Given the description of an element on the screen output the (x, y) to click on. 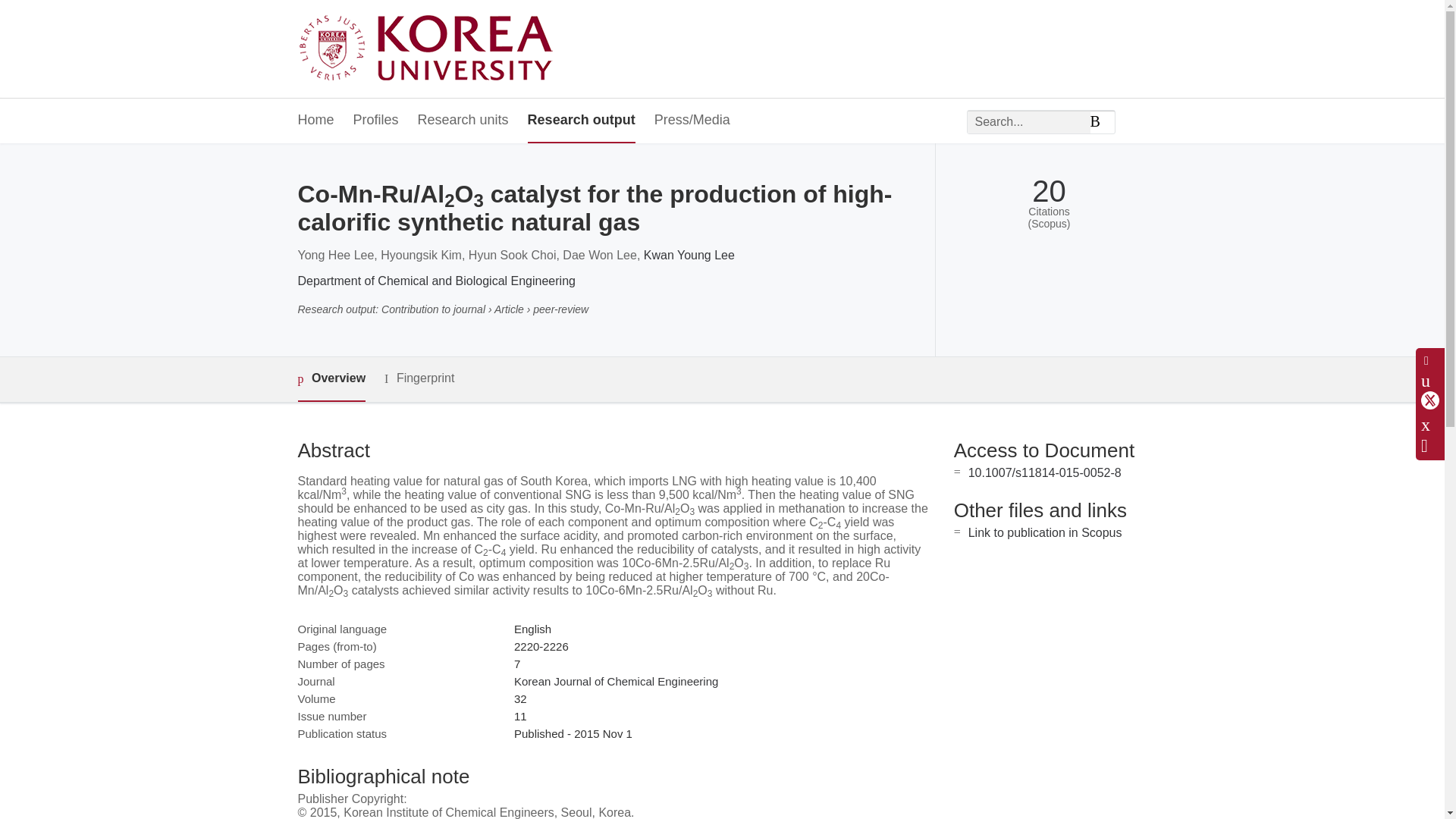
Link to publication in Scopus (1045, 532)
Korea University Home (429, 49)
Overview (331, 379)
Korean Journal of Chemical Engineering (615, 680)
Profiles (375, 120)
20 (1048, 191)
Department of Chemical and Biological Engineering (436, 280)
Kwan Young Lee (689, 254)
Fingerprint (419, 378)
Research units (462, 120)
Research output (580, 120)
